Given the description of an element on the screen output the (x, y) to click on. 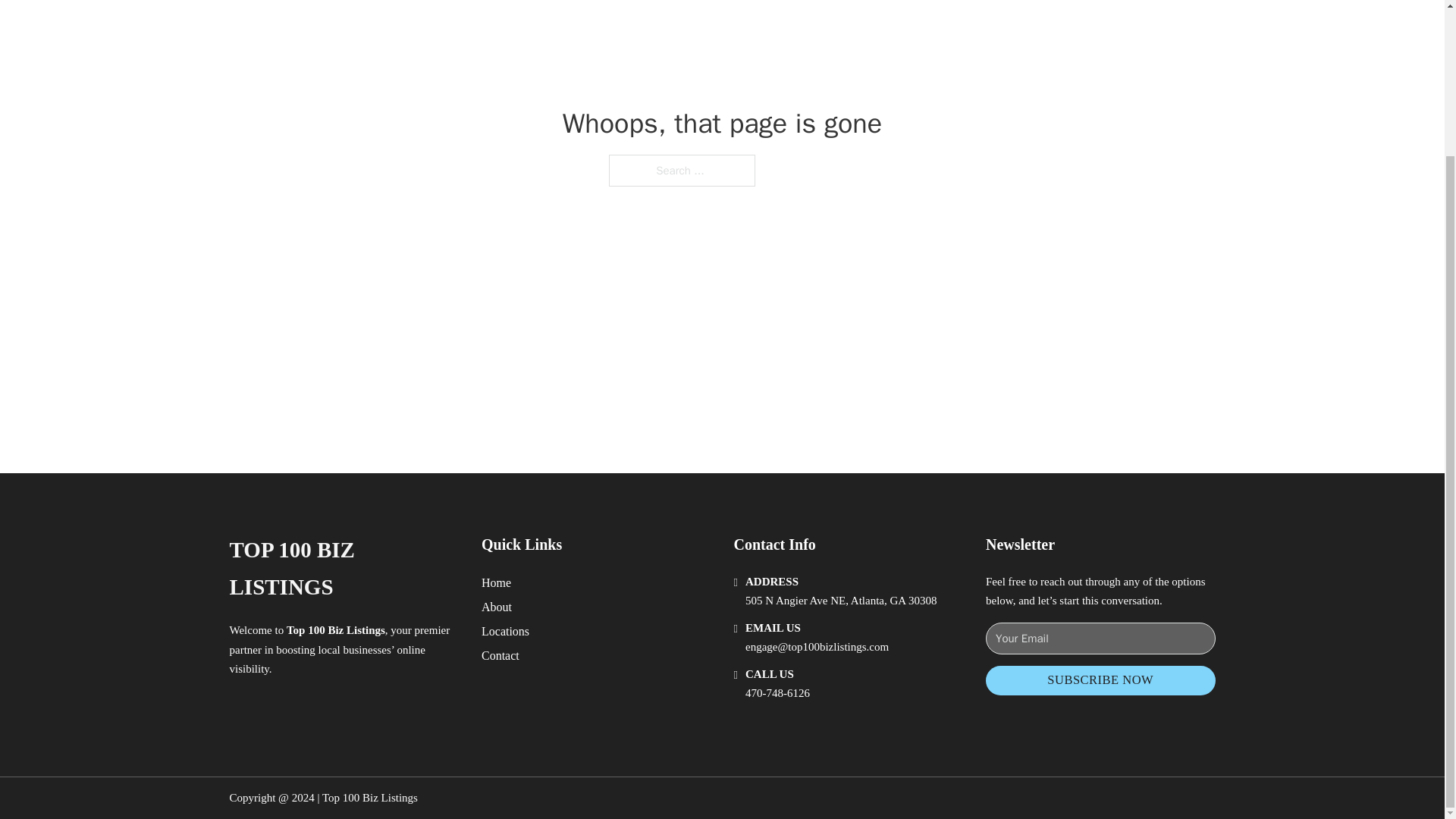
TOP 100 BIZ LISTINGS (343, 568)
Locations (505, 630)
470-748-6126 (777, 693)
Home (496, 582)
Contact (500, 655)
SUBSCRIBE NOW (1100, 680)
About (496, 607)
